Given the description of an element on the screen output the (x, y) to click on. 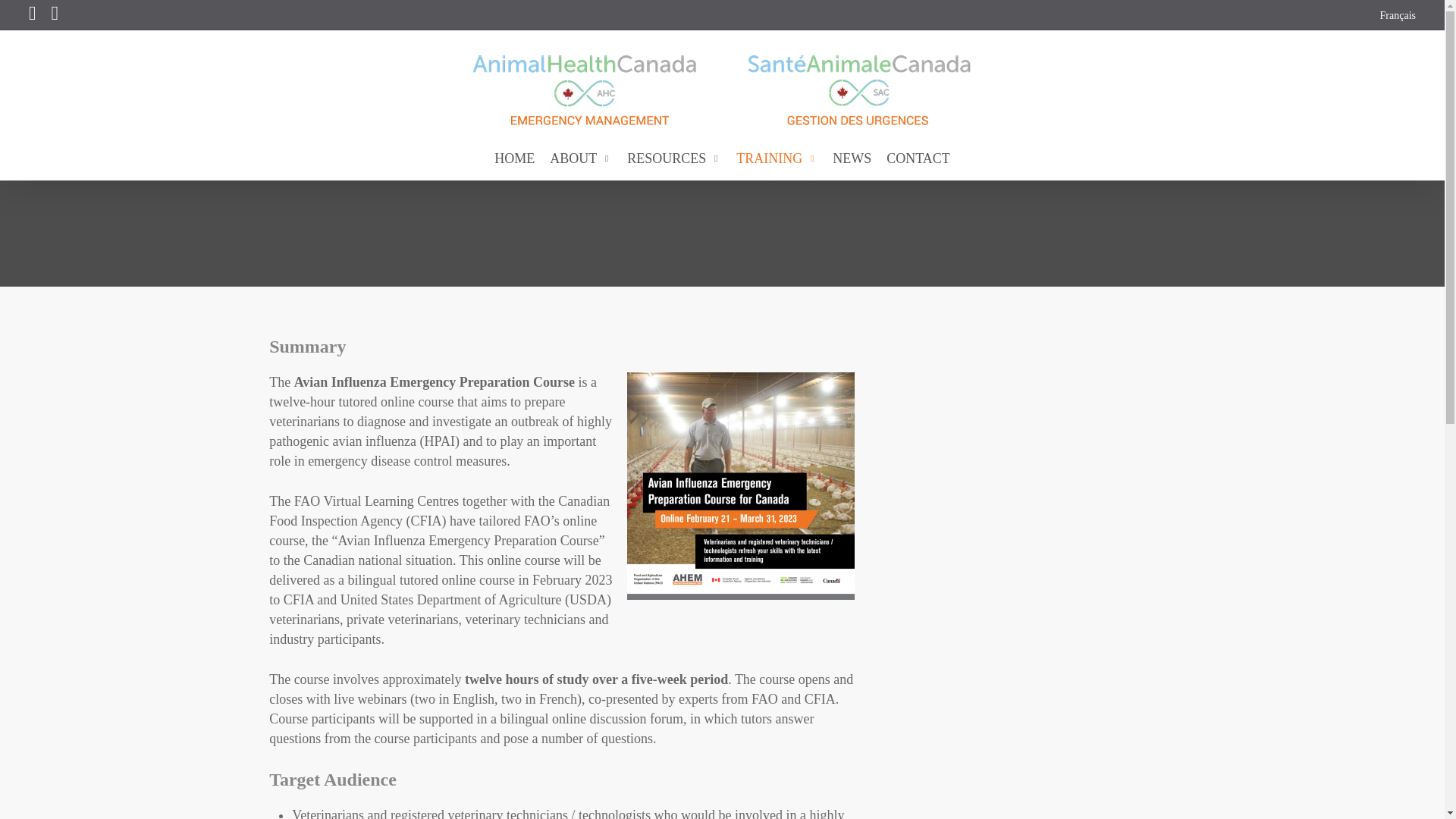
youtube (54, 15)
CONTACT (918, 158)
HOME (513, 158)
ABOUT (580, 158)
NEWS (852, 158)
RESOURCES (674, 158)
twitter (32, 15)
TRAINING (777, 158)
